Given the description of an element on the screen output the (x, y) to click on. 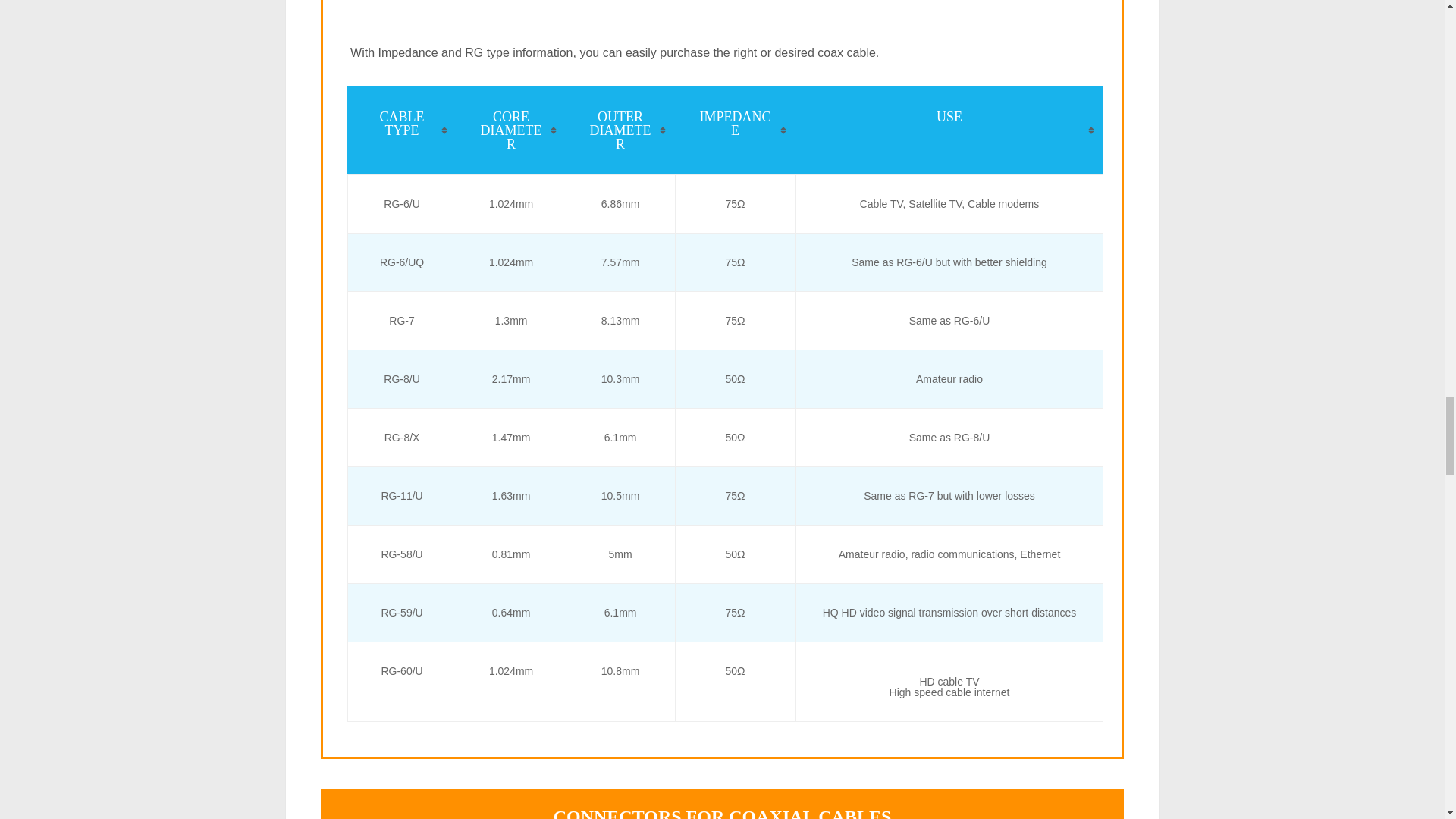
RG Classification (725, 11)
